Given the description of an element on the screen output the (x, y) to click on. 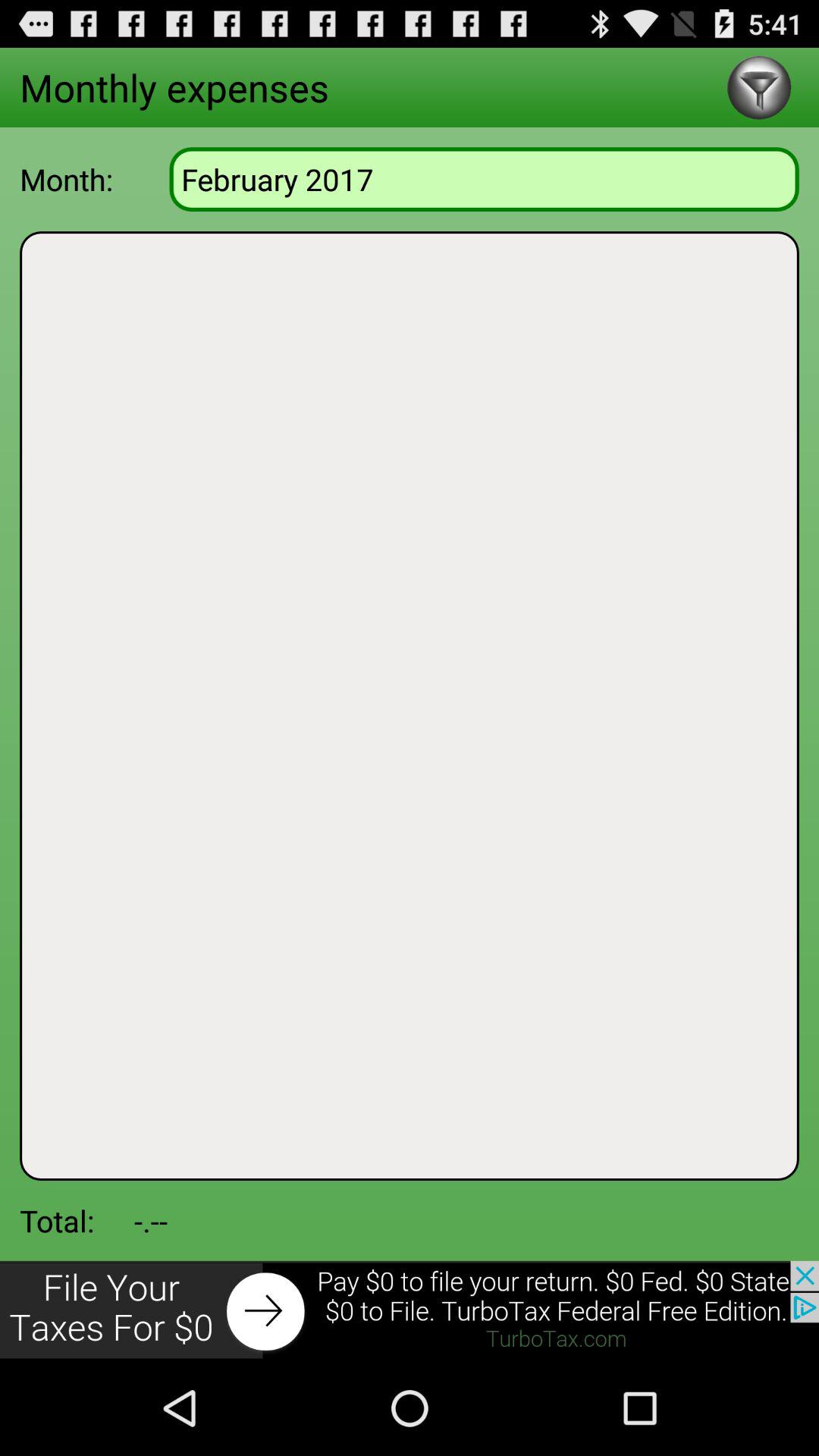
advertisement click (409, 1310)
